Given the description of an element on the screen output the (x, y) to click on. 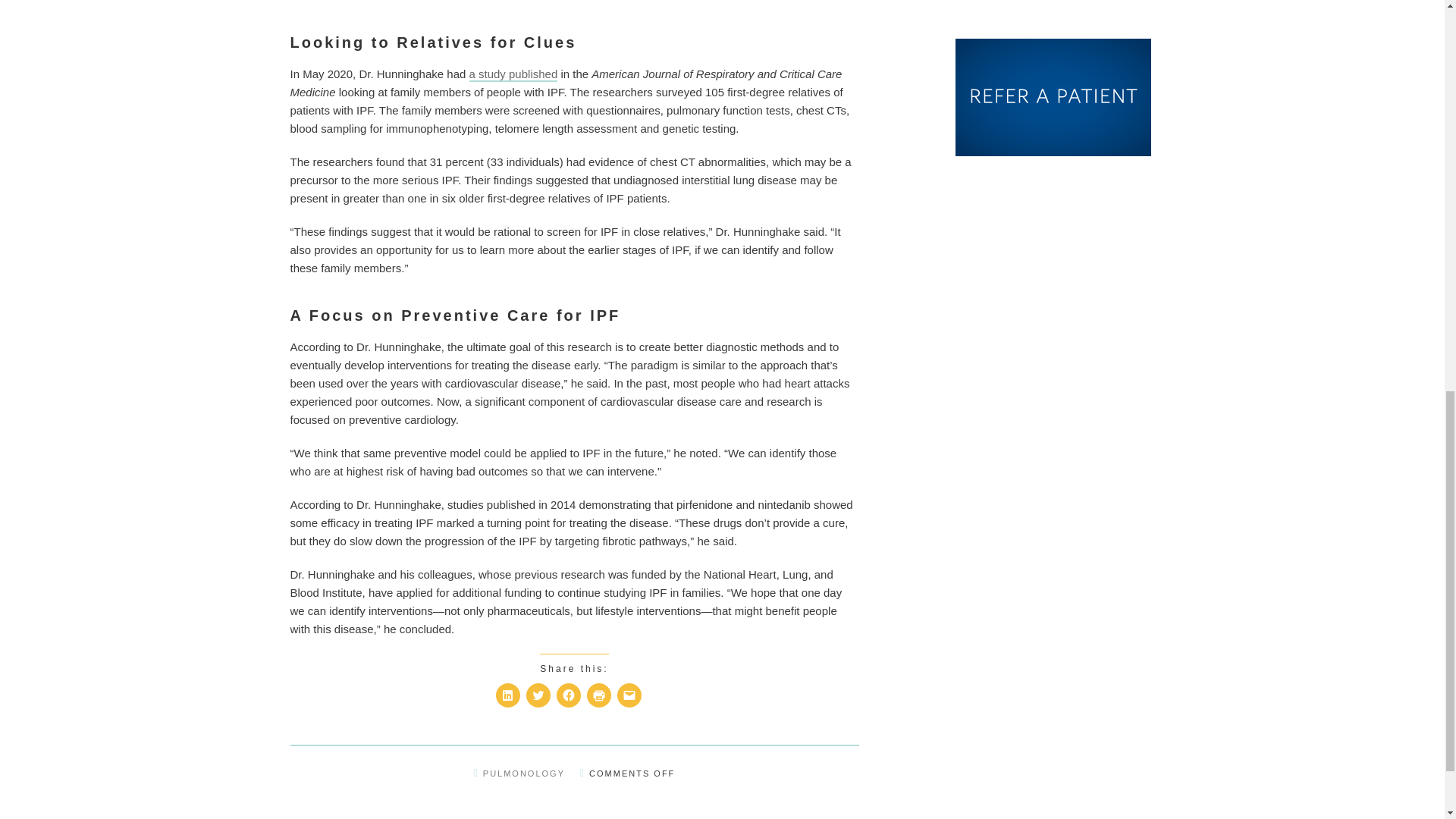
Click to share on Facebook (568, 695)
Click to share on LinkedIn (507, 695)
Click to email a link to a friend (629, 695)
Click to print (598, 695)
Click to share on Twitter (537, 695)
PULMONOLOGY (523, 773)
a study published (512, 73)
